Given the description of an element on the screen output the (x, y) to click on. 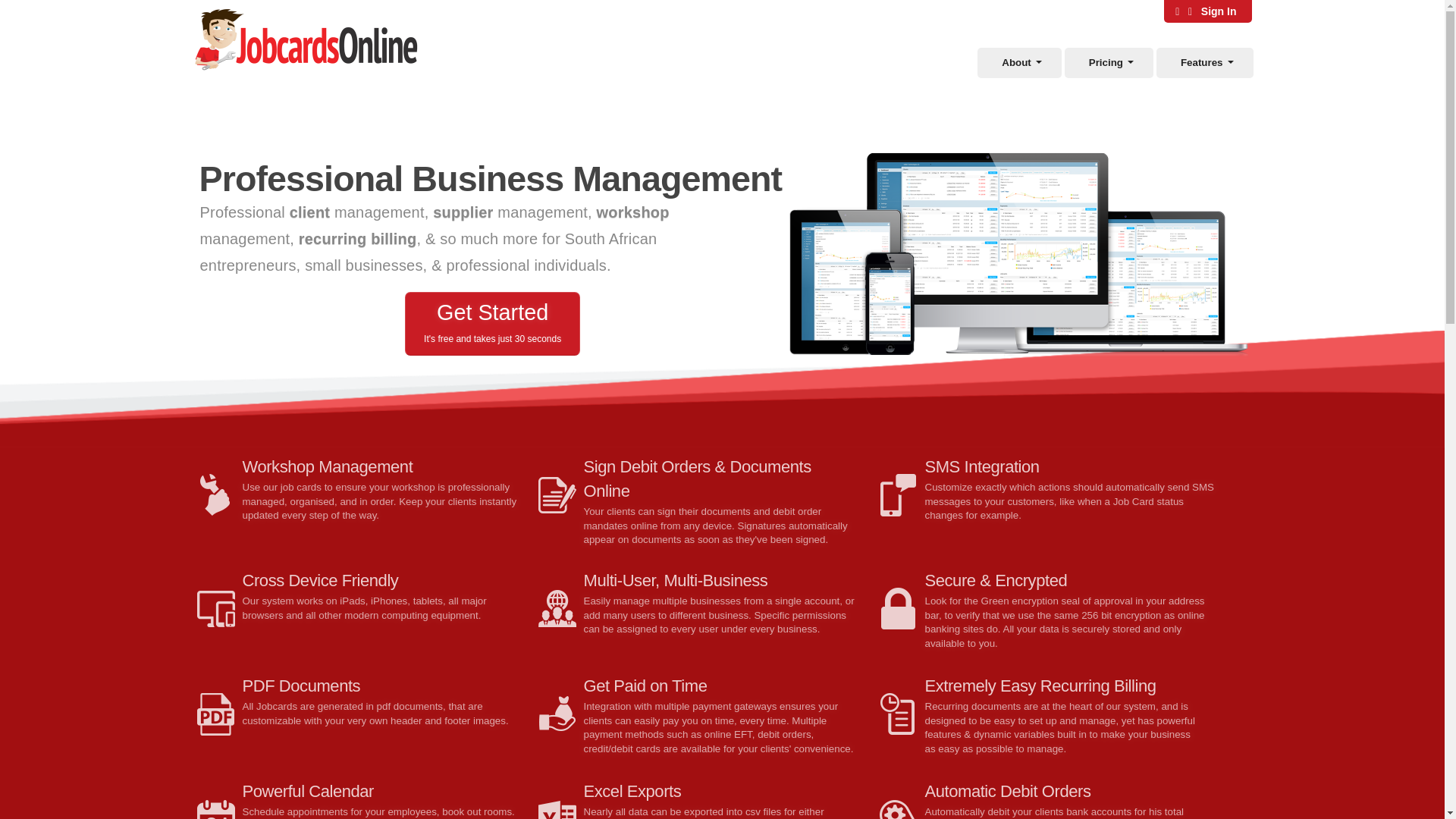
Pricing (1105, 62)
      Sign In (1206, 11)
Features (1201, 62)
Features (1201, 62)
Pricing (1105, 62)
About (1016, 62)
About (1016, 62)
